Given the description of an element on the screen output the (x, y) to click on. 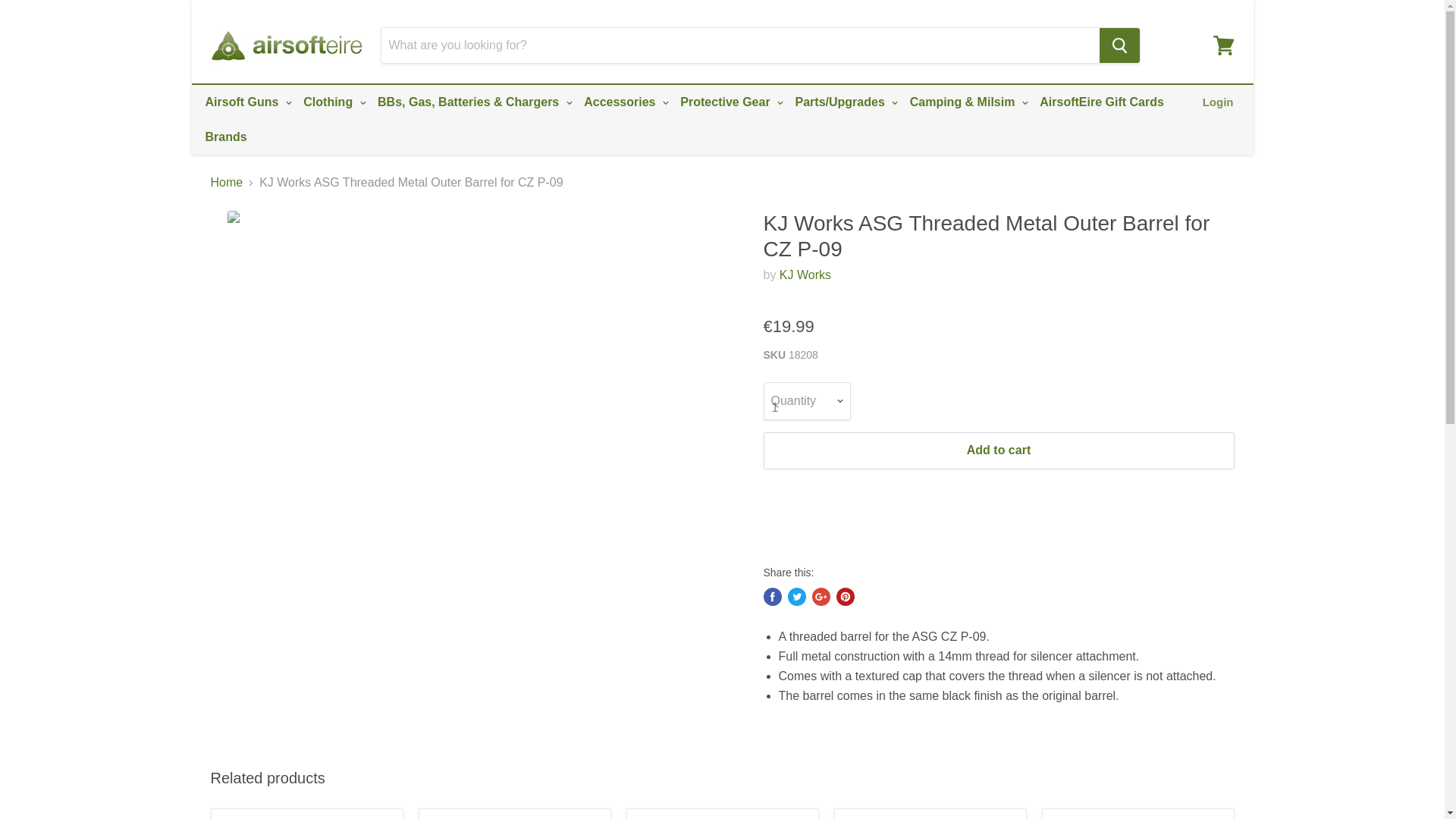
View cart (1223, 45)
Clothing (332, 101)
Airsoft Guns (246, 101)
KJ Works (804, 274)
